Given the description of an element on the screen output the (x, y) to click on. 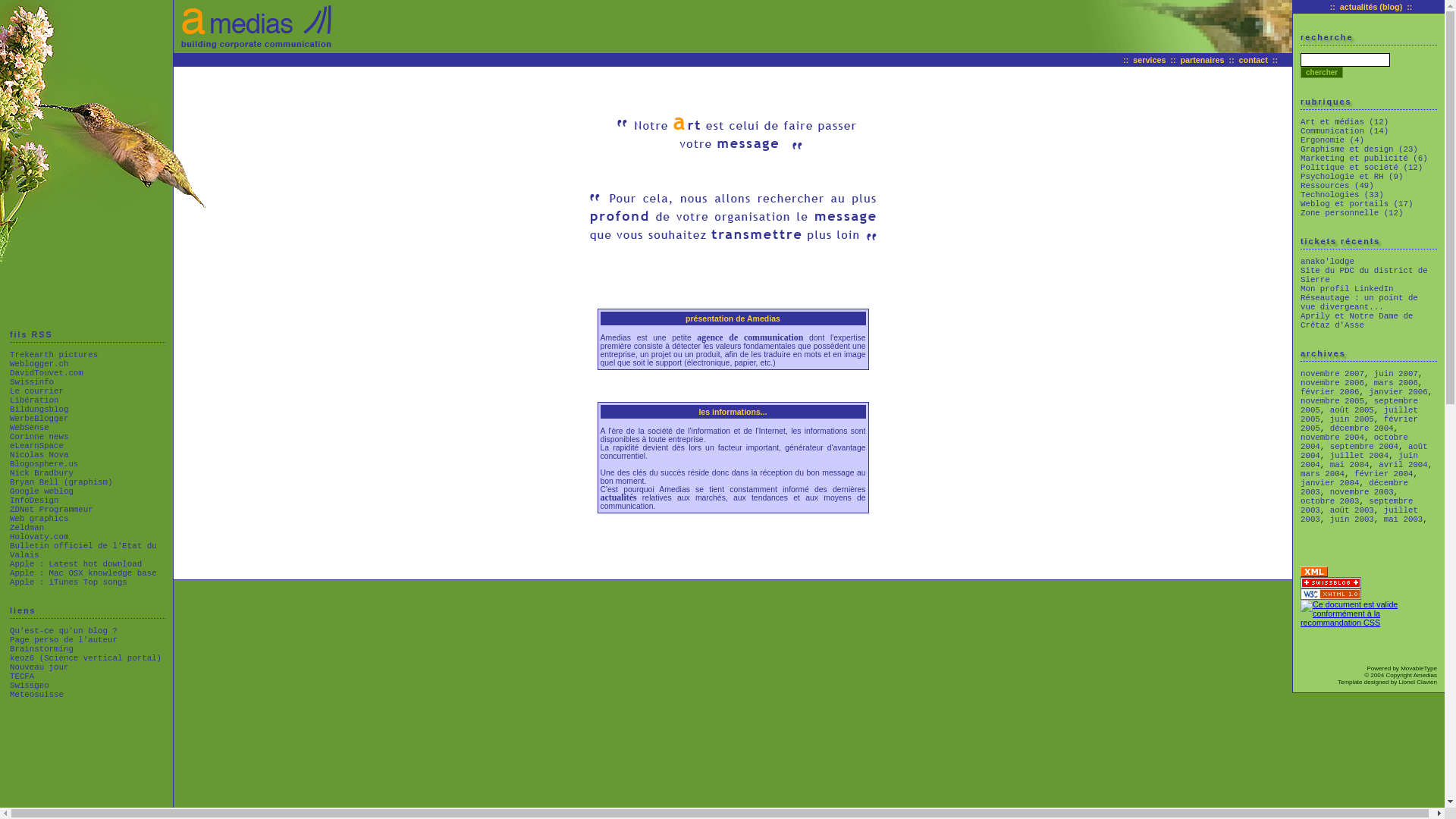
septembre 2005 Element type: text (1359, 405)
janvier 2006 Element type: text (1397, 391)
juillet 2003 Element type: text (1359, 514)
Bulletin officiel de l'Etat du Valais Element type: text (82, 550)
juin 2003 Element type: text (1352, 519)
Brainstorming Element type: text (41, 648)
Google weblog Element type: text (41, 490)
mars 2004 Element type: text (1322, 473)
juin 2004 Element type: text (1359, 460)
Meteosuisse Element type: text (36, 694)
Qu'est-ce qu'un blog ? Element type: text (63, 630)
Technologies (33) Element type: text (1341, 194)
juin 2005 Element type: text (1352, 418)
avril 2004 Element type: text (1402, 464)
Page perso de l'auteur Element type: text (63, 639)
Nick Bradbury Element type: text (41, 472)
novembre 2003 Element type: text (1361, 491)
septembre 2003 Element type: text (1356, 505)
Le courrier Element type: text (36, 390)
Psychologie et RH (9) Element type: text (1351, 176)
Nicolas Nova Element type: text (38, 454)
mars 2006 Element type: text (1396, 382)
septembre 2004 Element type: text (1364, 446)
Communication (14) Element type: text (1344, 130)
Zone personnelle (12) Element type: text (1351, 212)
Swissgeo Element type: text (29, 685)
Apple : Latest hot download Element type: text (75, 563)
Zeldman Element type: text (26, 527)
Ressources (49) Element type: text (1337, 185)
novembre 2006 Element type: text (1332, 382)
InfoDesign Element type: text (34, 500)
Ergonomie (4) Element type: text (1332, 139)
octobre 2003 Element type: text (1329, 500)
Nouveau jour Element type: text (38, 666)
octobre 2004 Element type: text (1354, 442)
TECFA Element type: text (21, 675)
Bryan Bell (graphism) Element type: text (60, 481)
services Element type: text (1148, 59)
juillet 2004 Element type: text (1359, 455)
novembre 2005 Element type: text (1332, 400)
janvier 2004 Element type: text (1329, 482)
keoz6 (Science vertical portal) Element type: text (85, 657)
mai 2003 Element type: text (1403, 519)
partenaires Element type: text (1202, 59)
eLearnSpace Element type: text (36, 445)
Swissinfo Element type: text (31, 381)
novembre 2007 Element type: text (1332, 373)
Mon profil LinkedIn Element type: text (1346, 288)
juin 2007 Element type: text (1396, 373)
Apple : Mac OSX knowledge base Element type: text (82, 572)
contact Element type: text (1253, 59)
DavidTouvet.com Element type: text (46, 372)
ZDNet Programmeur Element type: text (51, 509)
Apple : iTunes Top songs Element type: text (68, 581)
mai 2004 Element type: text (1349, 464)
novembre 2004 Element type: text (1332, 437)
Weblogger.ch Element type: text (38, 363)
WebSense Element type: text (29, 427)
chercher Element type: text (1321, 72)
Site du PDC du district de Sierre Element type: text (1363, 275)
Web graphics Element type: text (38, 518)
juillet 2005 Element type: text (1359, 414)
Graphisme et design (23) Element type: text (1359, 148)
Trekearth pictures Element type: text (53, 354)
MovableType Element type: text (1418, 668)
anako'lodge Element type: text (1327, 261)
Blogosphere.us Element type: text (43, 463)
Corinne news Element type: text (38, 436)
Bildungsblog Element type: text (38, 409)
Holovaty.com Element type: text (38, 536)
Weblog et portails (17) Element type: text (1356, 203)
WerbeBlogger Element type: text (38, 418)
